Given the description of an element on the screen output the (x, y) to click on. 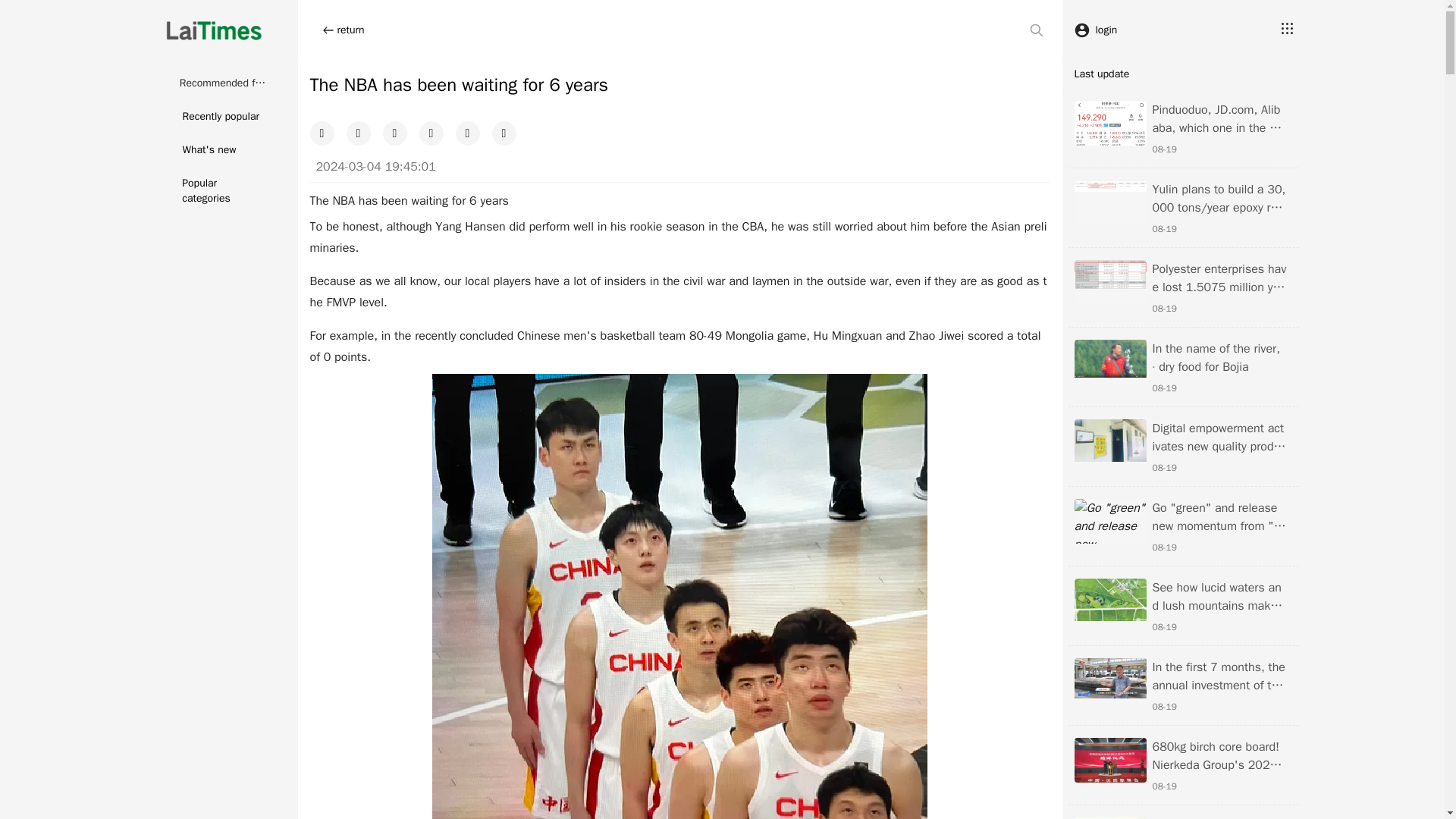
Popular categories (214, 191)
Recently popular (214, 116)
What's new (214, 150)
login (1095, 29)
Recommended for you (214, 83)
return (342, 30)
